Given the description of an element on the screen output the (x, y) to click on. 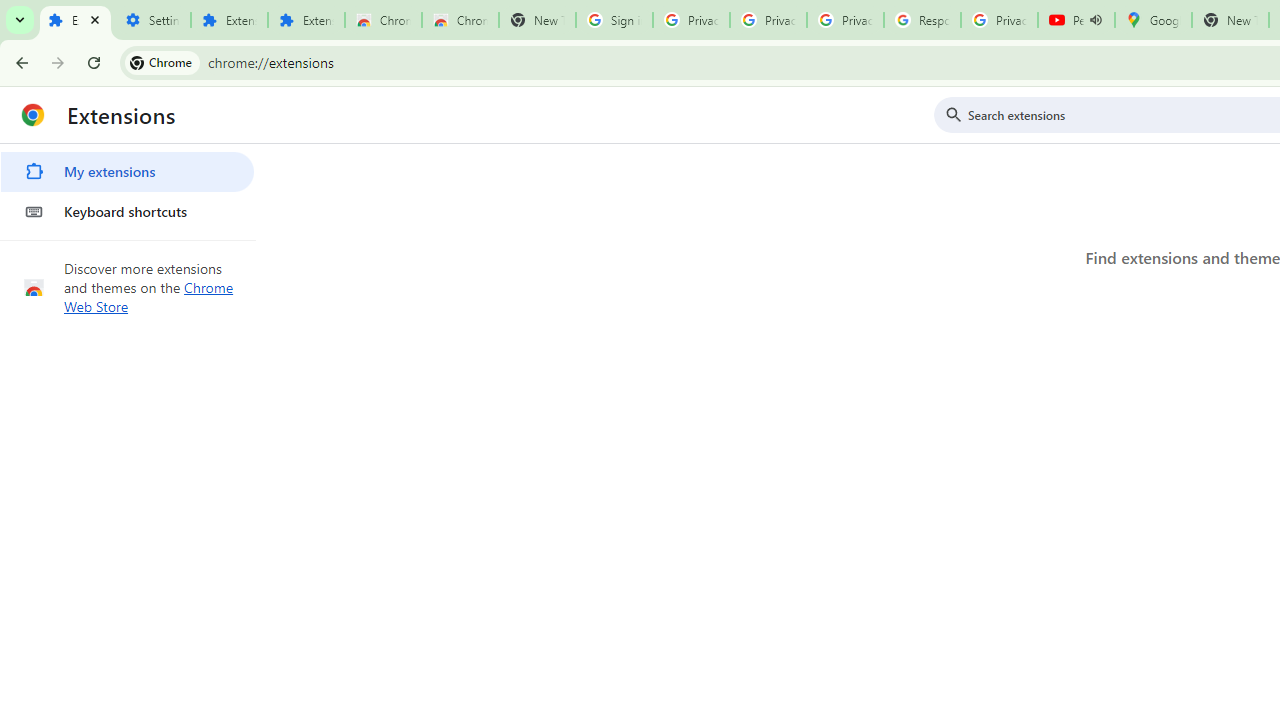
Keyboard shortcuts (127, 211)
My extensions (127, 171)
Chrome Web Store - Themes (460, 20)
Extensions (306, 20)
Google Maps (1152, 20)
Sign in - Google Accounts (614, 20)
Chrome Web Store (149, 296)
New Tab (1229, 20)
